Given the description of an element on the screen output the (x, y) to click on. 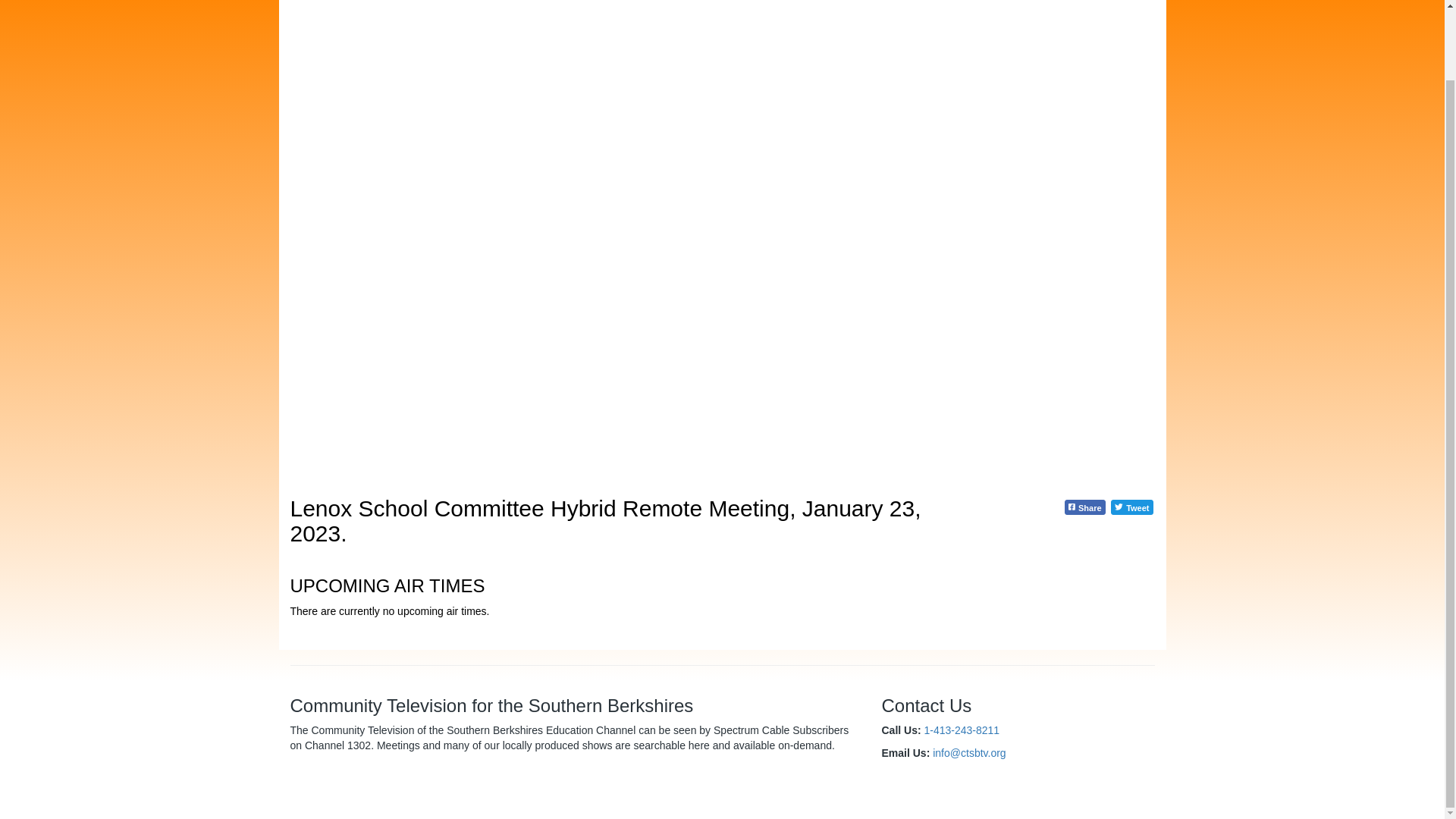
1-413-243-8211 (962, 729)
Tweet (1131, 507)
Share (1084, 507)
